Given the description of an element on the screen output the (x, y) to click on. 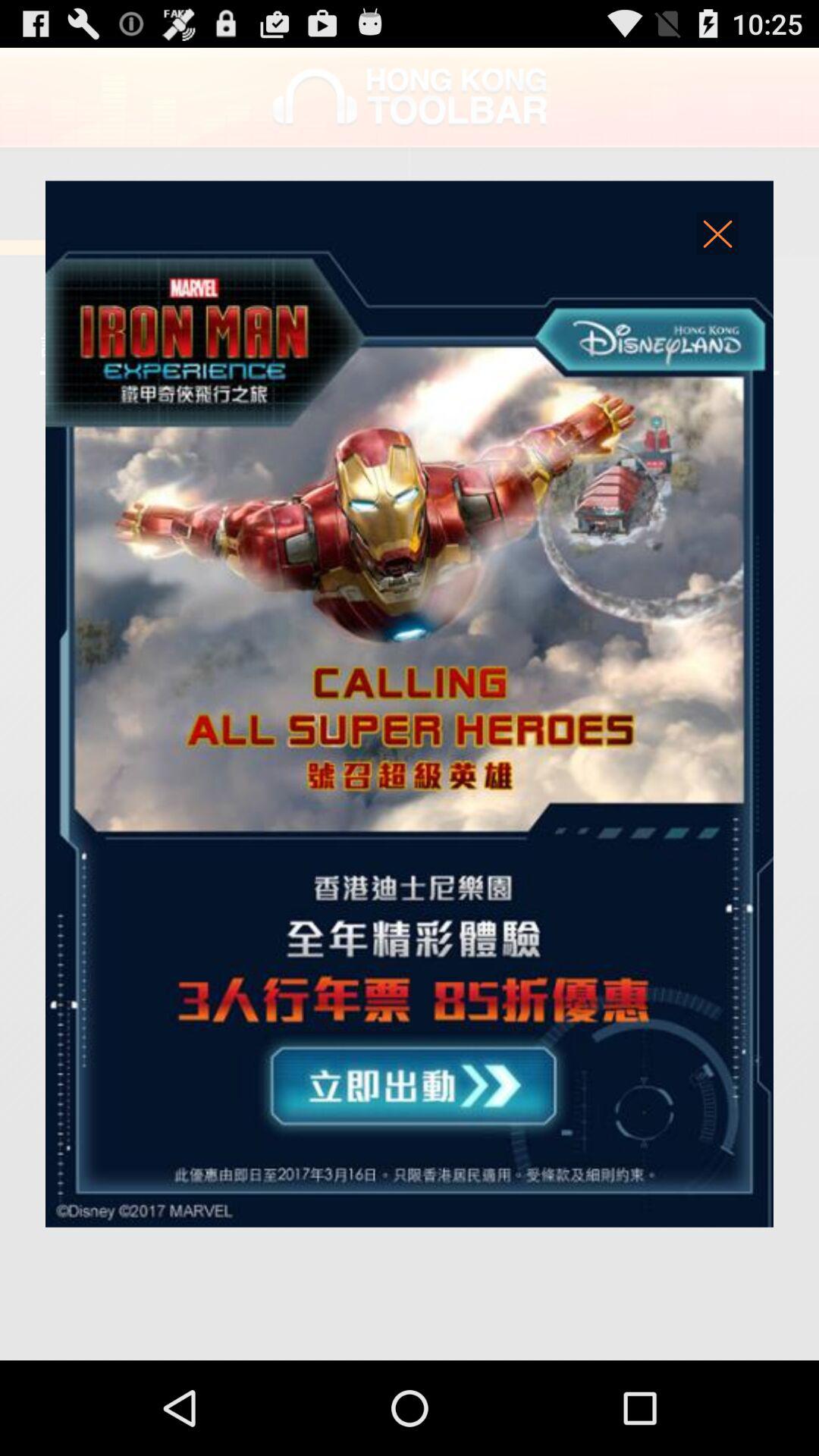
close advertisements (718, 238)
